Given the description of an element on the screen output the (x, y) to click on. 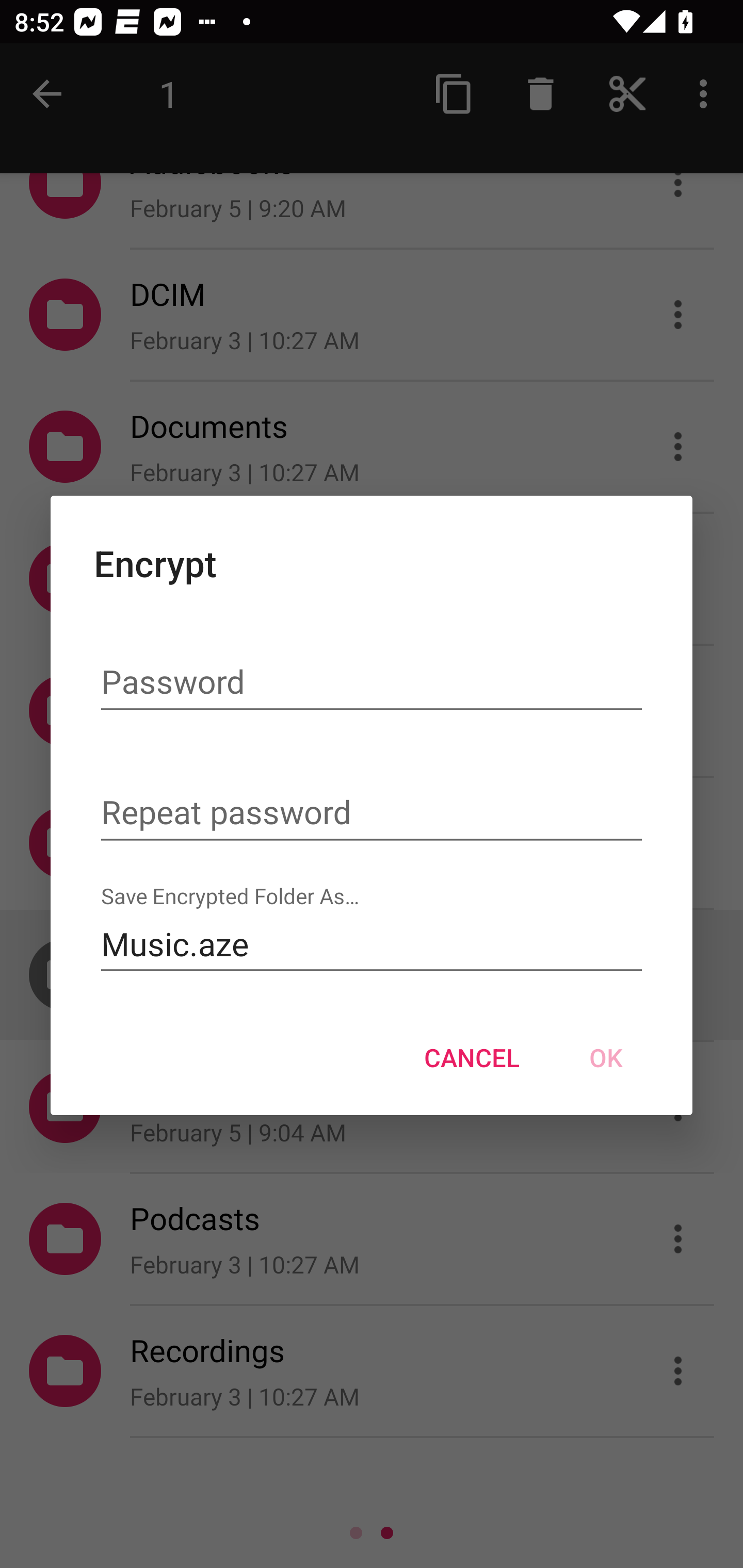
Password (371, 683)
Repeat password (371, 813)
Music.aze (371, 943)
CANCEL (470, 1057)
OK (605, 1057)
